Given the description of an element on the screen output the (x, y) to click on. 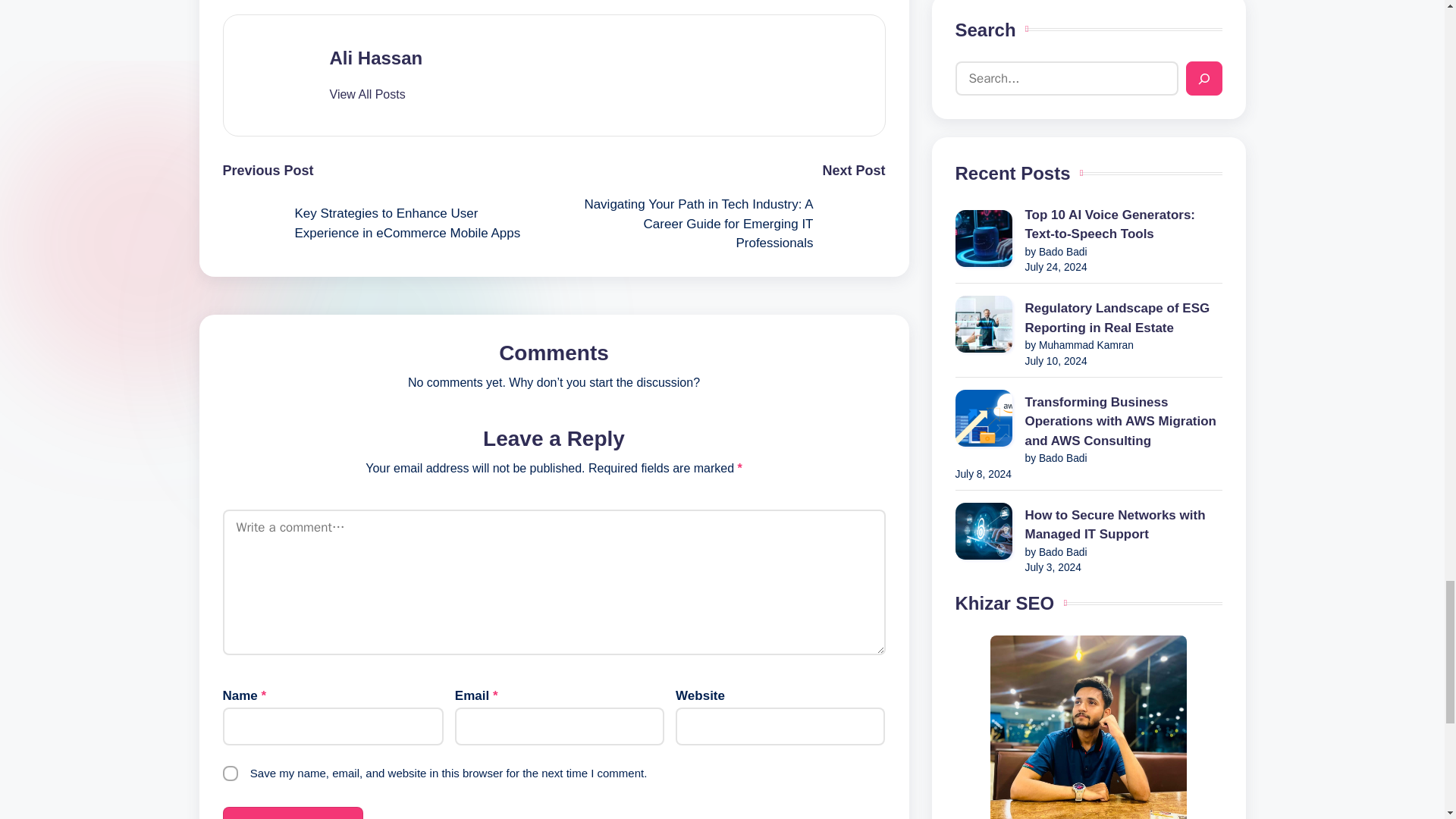
Post Comment (292, 812)
yes (230, 773)
Post Comment (292, 812)
View All Posts (366, 94)
Ali Hassan (375, 57)
